Given the description of an element on the screen output the (x, y) to click on. 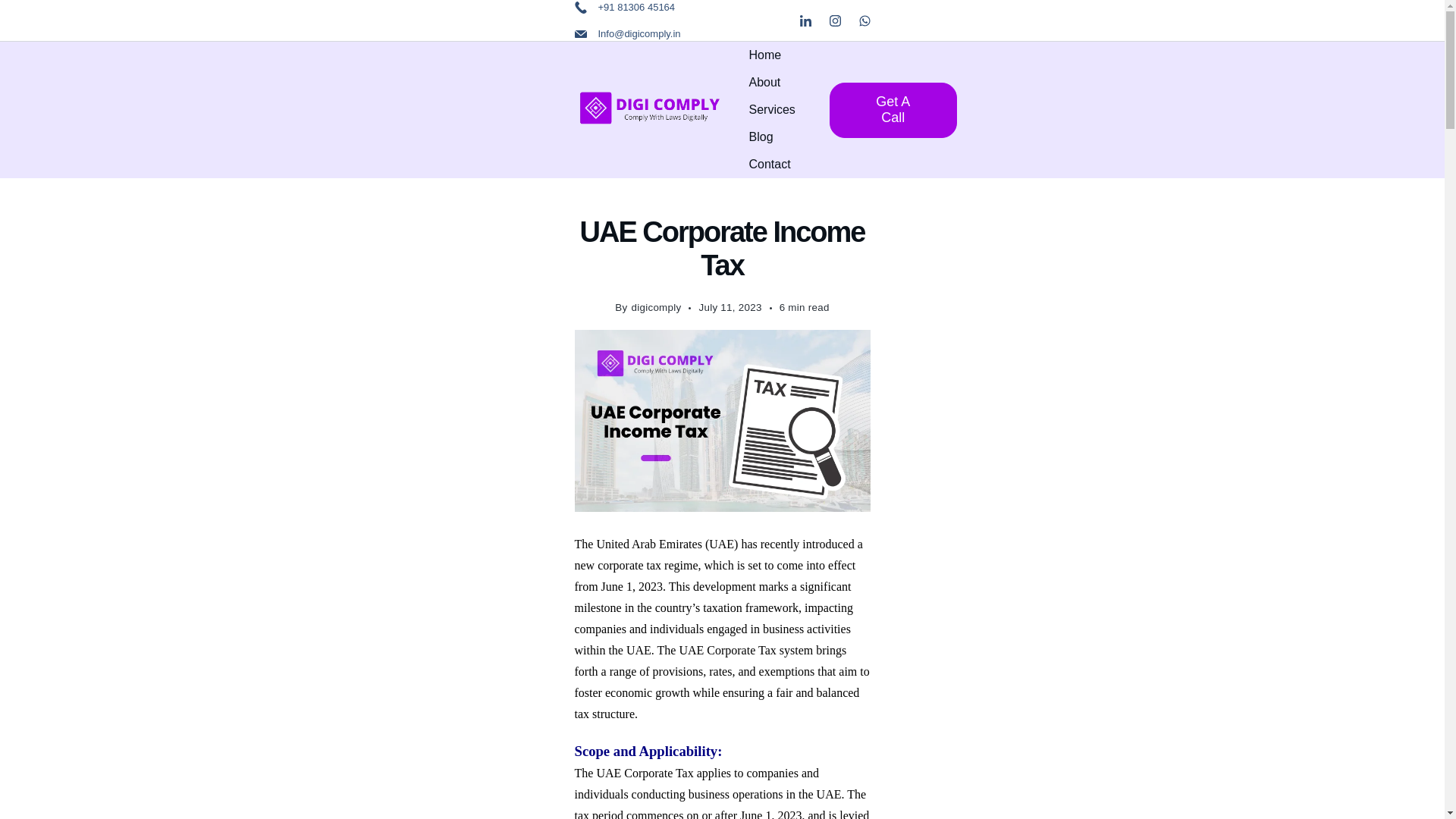
About (764, 82)
Services (771, 109)
Blog (761, 136)
Get A Call (892, 109)
Contact (769, 164)
Home (764, 54)
digicomply (655, 307)
